Given the description of an element on the screen output the (x, y) to click on. 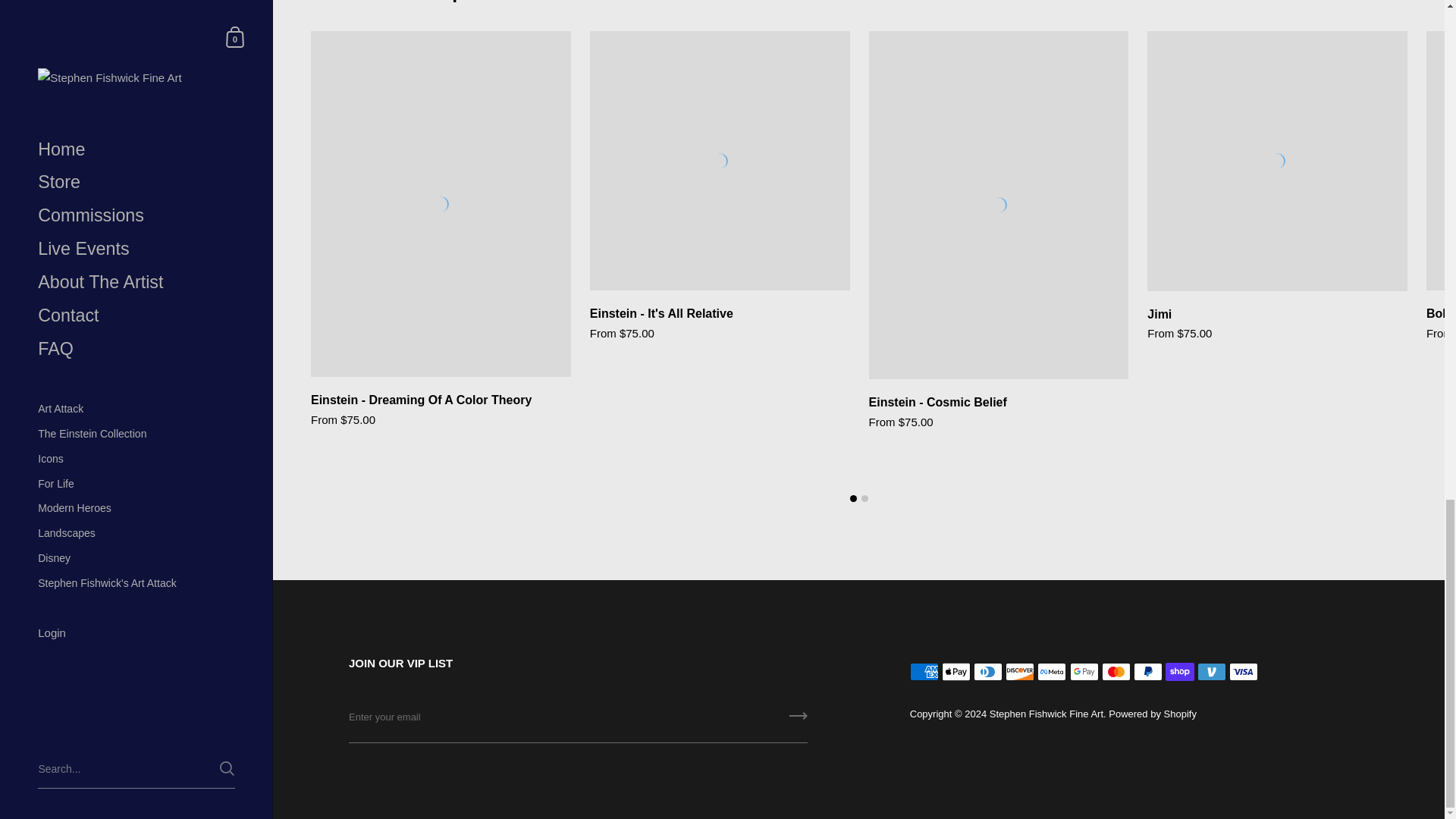
Discover (1019, 671)
Mastercard (1116, 671)
Venmo (1210, 671)
Shop Pay (1179, 671)
Google Pay (1084, 671)
Visa (1242, 671)
Apple Pay (956, 671)
American Express (924, 671)
Diners Club (988, 671)
Meta Pay (1050, 671)
PayPal (1147, 671)
